Given the description of an element on the screen output the (x, y) to click on. 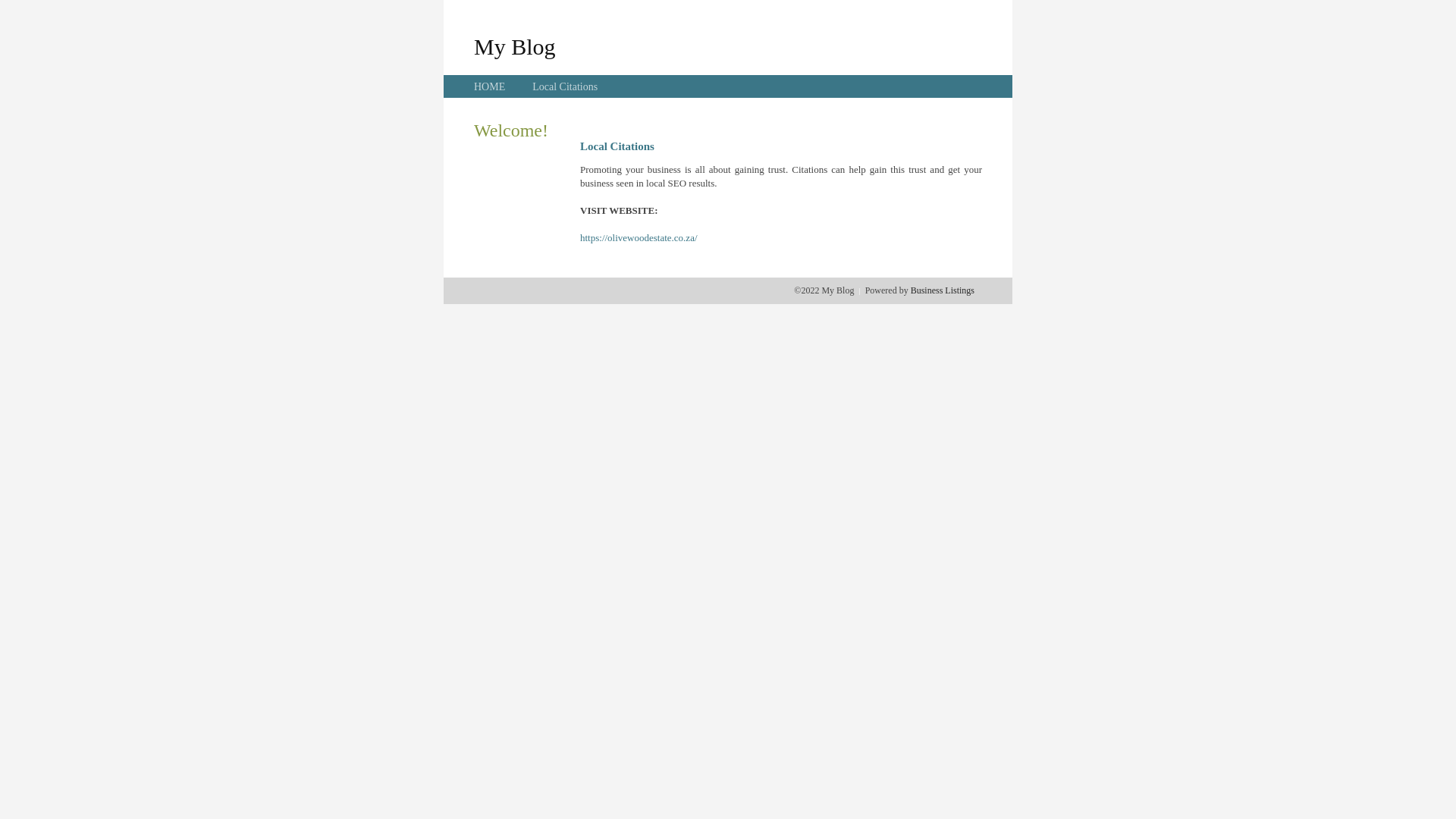
HOME Element type: text (489, 86)
My Blog Element type: text (514, 46)
Business Listings Element type: text (942, 290)
https://olivewoodestate.co.za/ Element type: text (638, 237)
Local Citations Element type: text (564, 86)
